Given the description of an element on the screen output the (x, y) to click on. 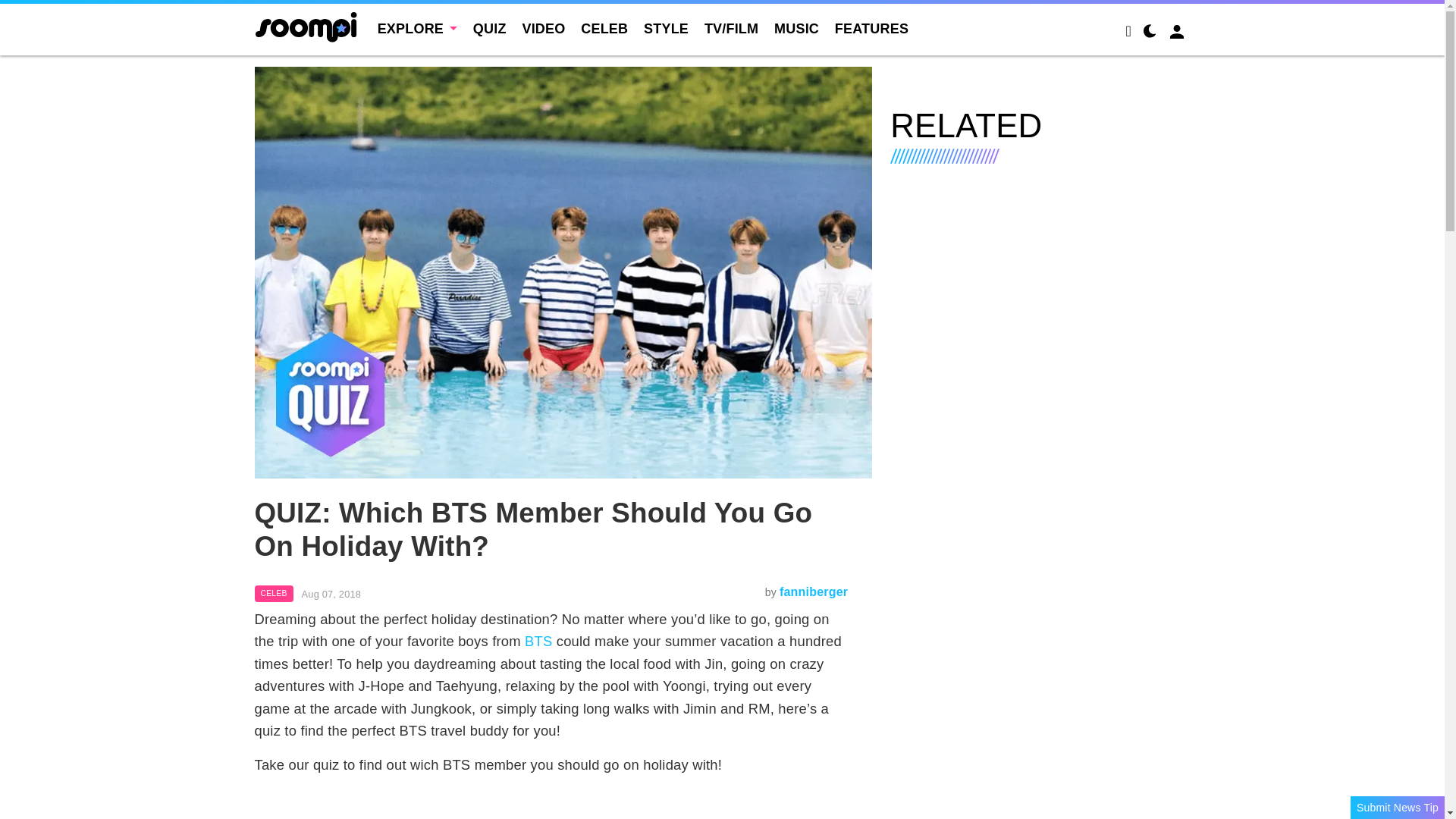
BTS (537, 641)
Night Mode Toggle (1149, 33)
EXPLORE (417, 28)
CELEB (603, 28)
FEATURES (871, 28)
fanniberger (812, 591)
MUSIC (796, 28)
CELEB (274, 593)
Articles by fanniberger (812, 591)
STYLE (665, 28)
